Given the description of an element on the screen output the (x, y) to click on. 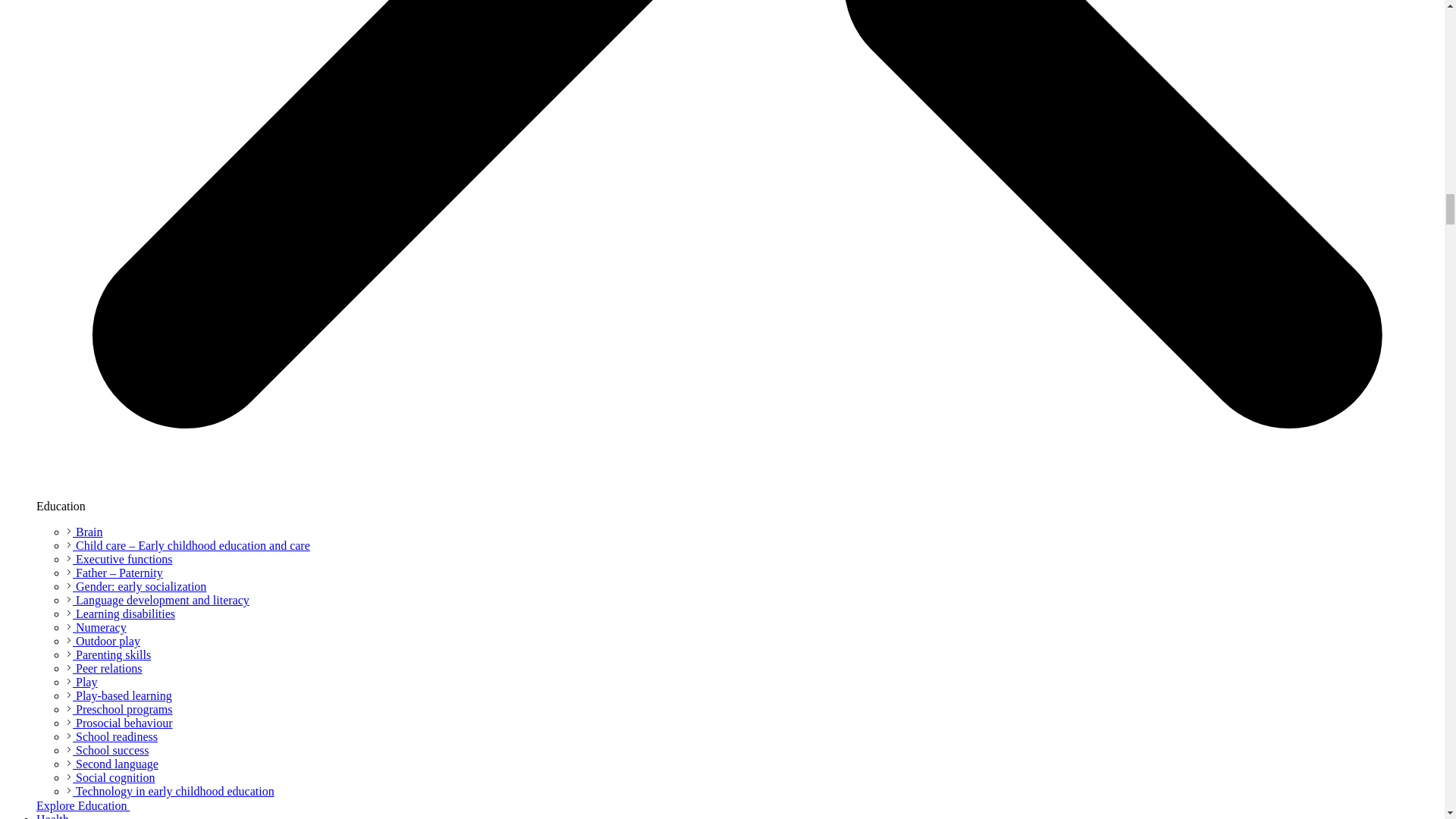
Gender: early socialization (136, 585)
Executive functions (119, 558)
Brain (84, 531)
